Given the description of an element on the screen output the (x, y) to click on. 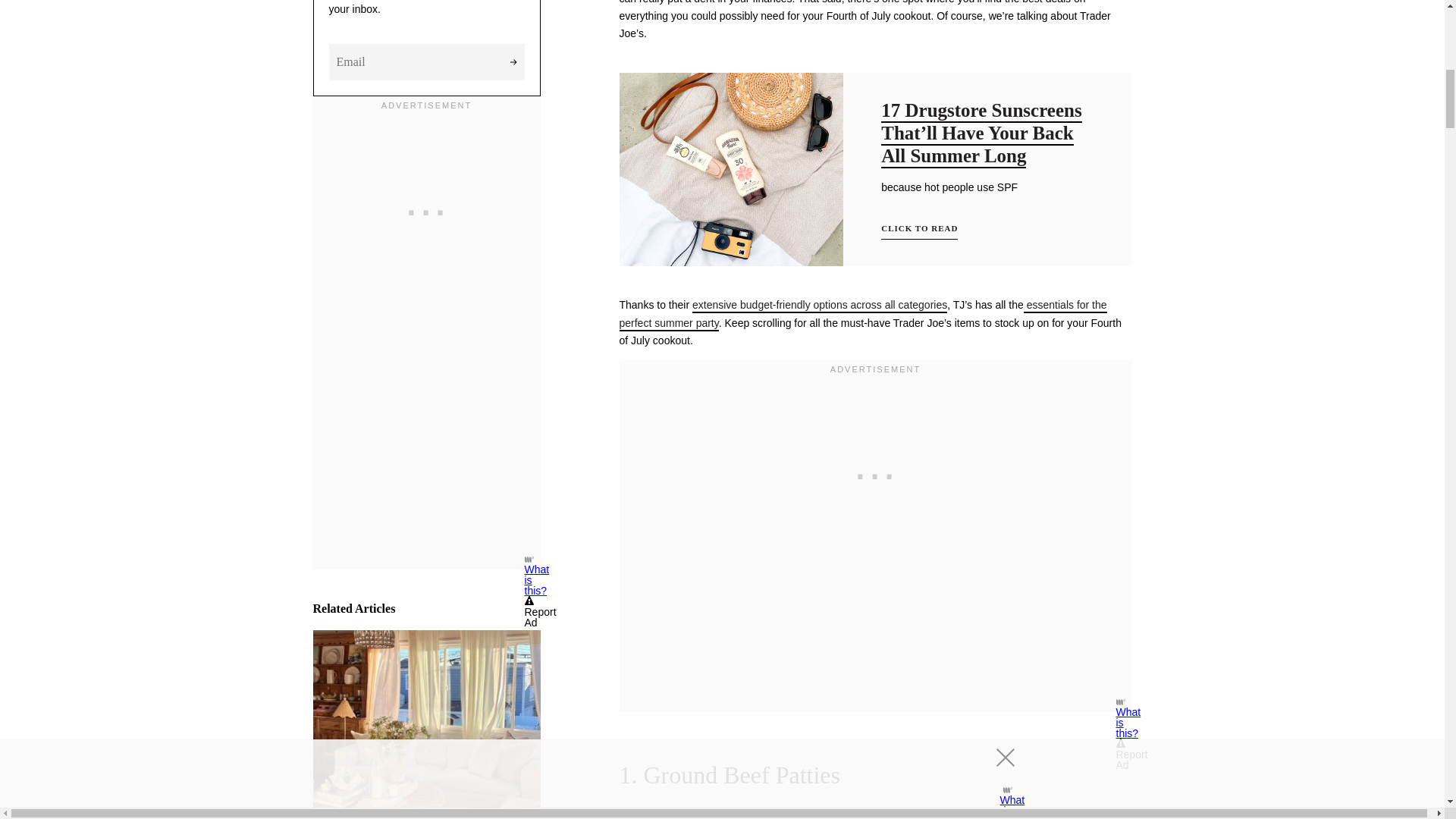
3rd party ad content (874, 473)
Subscribe (513, 62)
3rd party ad content (426, 224)
